Given the description of an element on the screen output the (x, y) to click on. 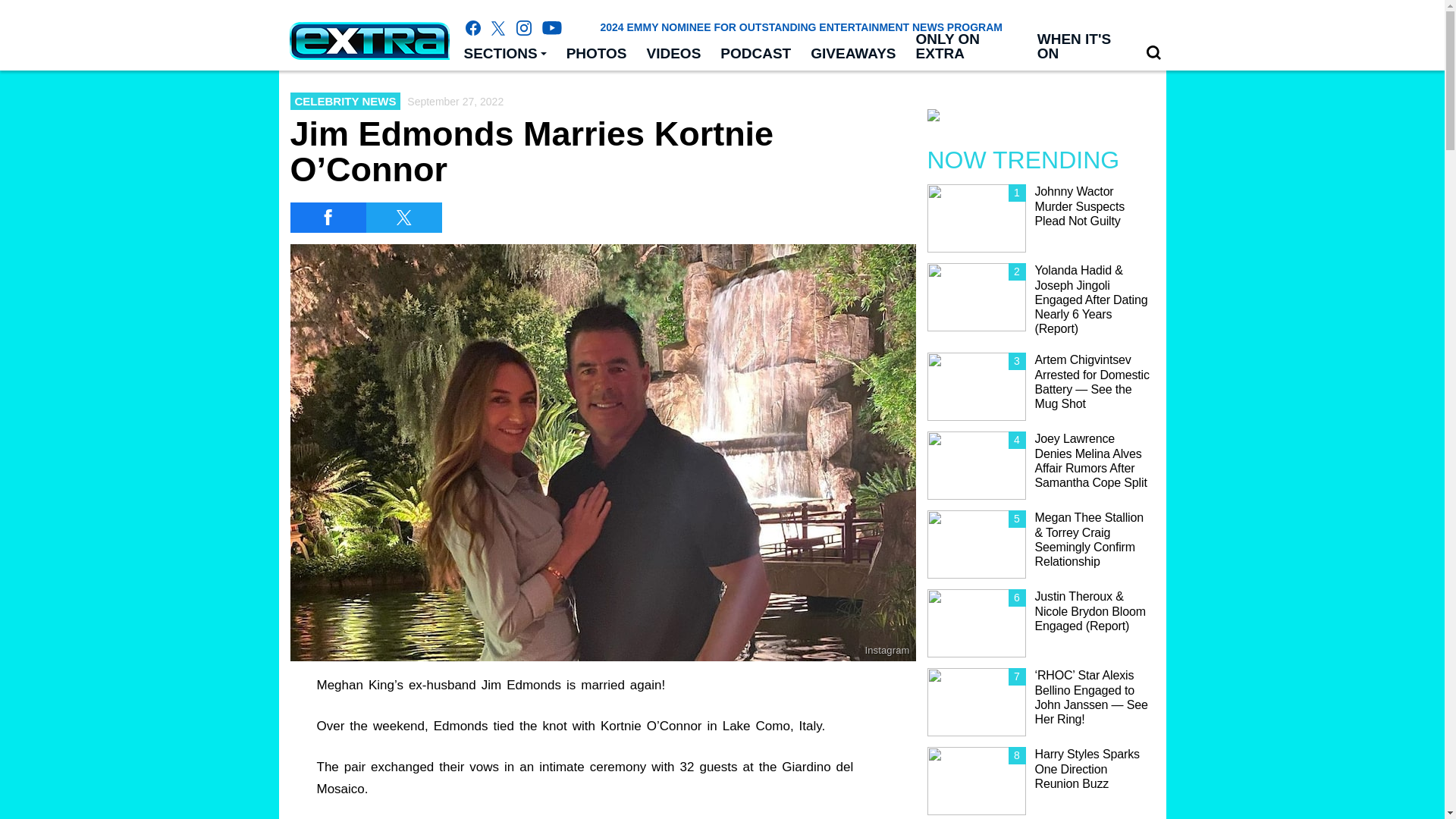
GIVEAWAYS (852, 54)
WHEN IT'S ON (1080, 47)
Search (1153, 52)
ONLY ON EXTRA (966, 47)
PHOTOS (596, 54)
SECTIONS (504, 54)
VIDEOS (674, 54)
PODCAST (755, 54)
Search (1153, 53)
